Given the description of an element on the screen output the (x, y) to click on. 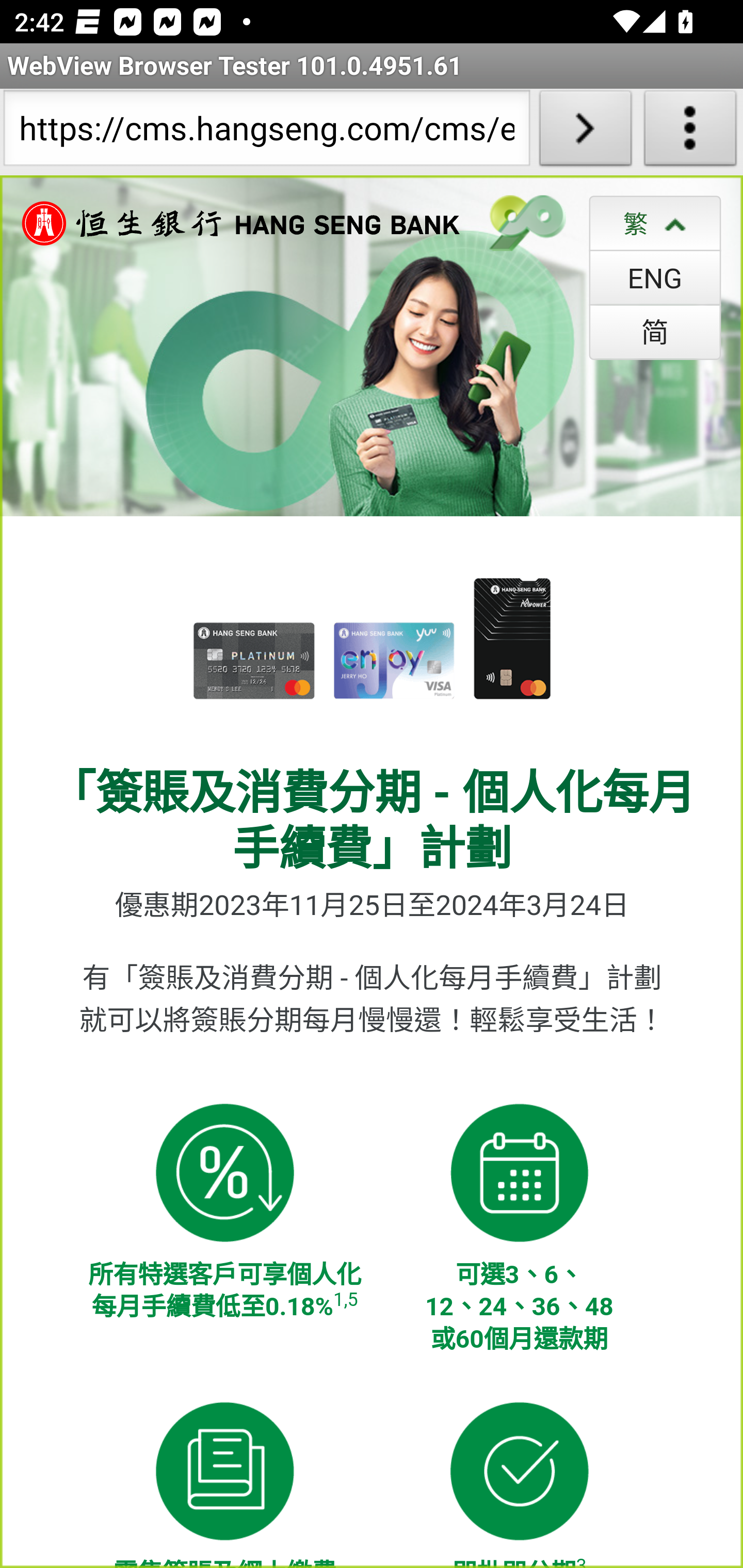
Load URL (585, 132)
About WebView (690, 132)
恒生銀行 Hang Sang Bank (231, 223)
繁 繁    (655, 223)
ENG (655, 277)
简 (655, 331)
